Given the description of an element on the screen output the (x, y) to click on. 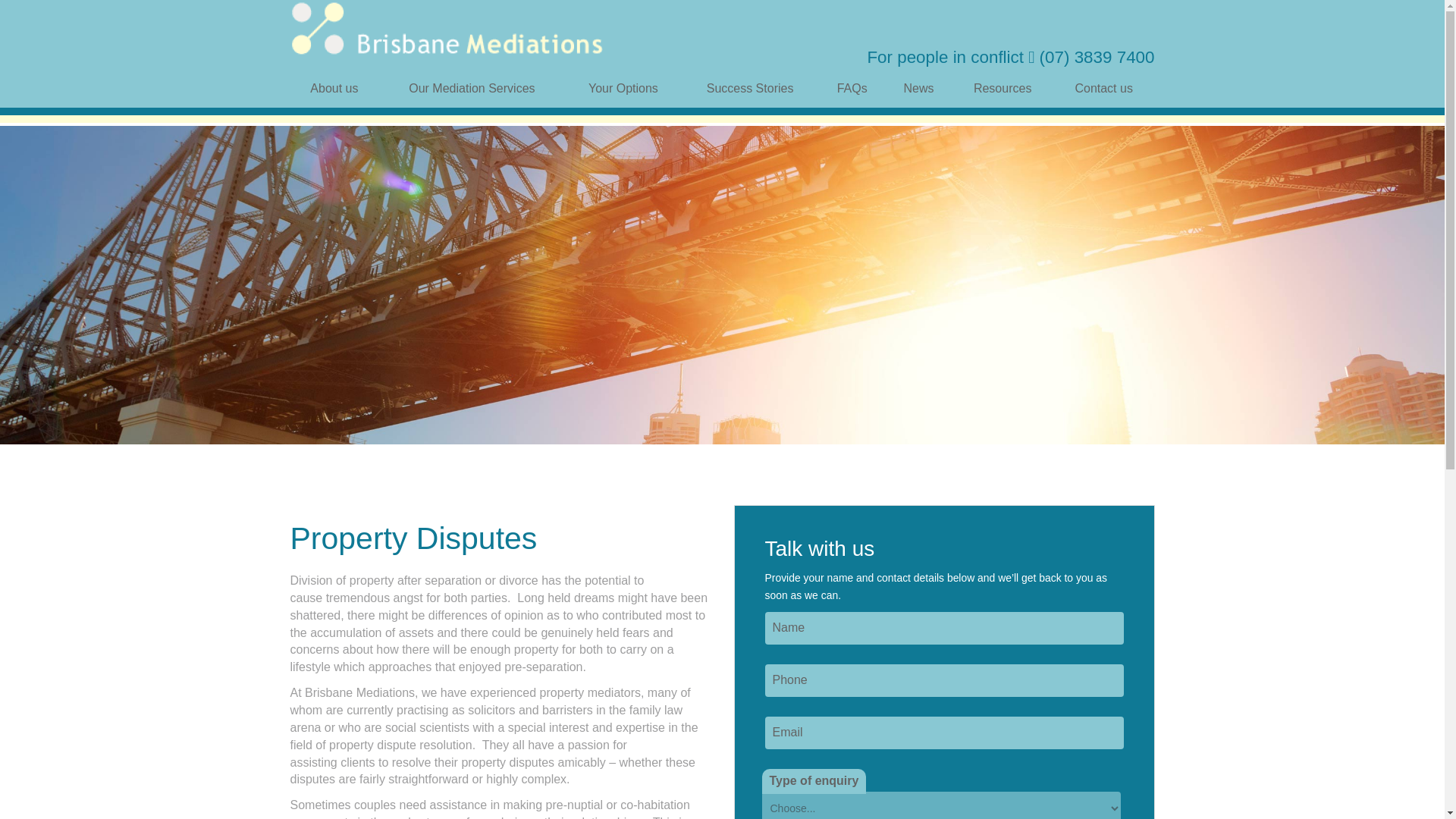
Our Mediation Services (471, 88)
About us (333, 88)
Contact us (1103, 88)
FAQs (851, 88)
Resources (1002, 88)
News (918, 88)
Your Options (622, 88)
Success Stories (749, 88)
